Given the description of an element on the screen output the (x, y) to click on. 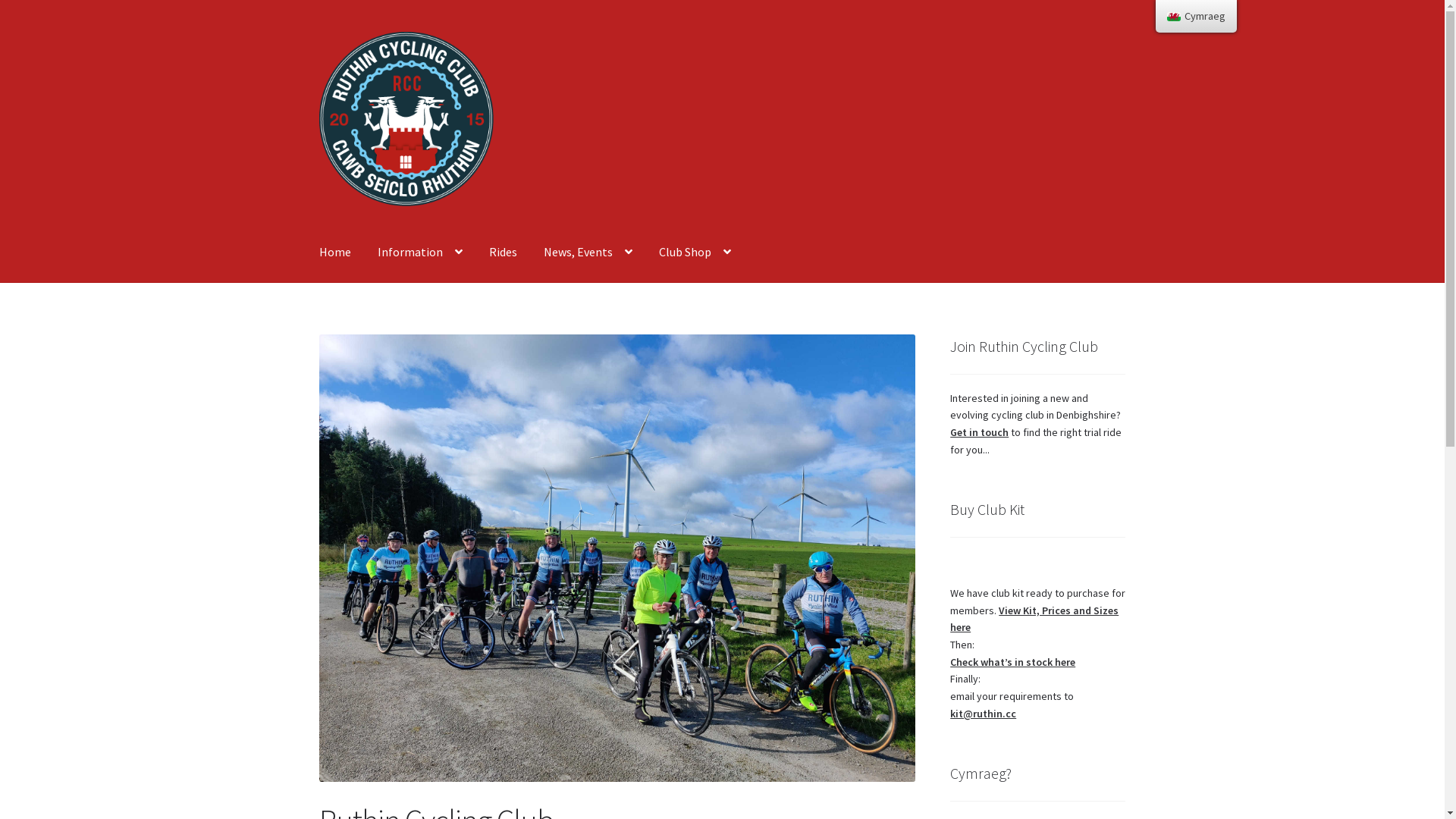
Club Shop Element type: text (694, 252)
Rides Element type: text (502, 252)
Information Element type: text (419, 252)
kit@ruthin.cc Element type: text (983, 713)
Cymraeg Element type: text (1195, 16)
View Kit, Prices and Sizes here Element type: text (1034, 618)
Home Element type: text (335, 252)
Skip to navigation Element type: text (318, 31)
News, Events Element type: text (587, 252)
Cymraeg Element type: hover (1173, 16)
Get in touch Element type: text (979, 432)
